Given the description of an element on the screen output the (x, y) to click on. 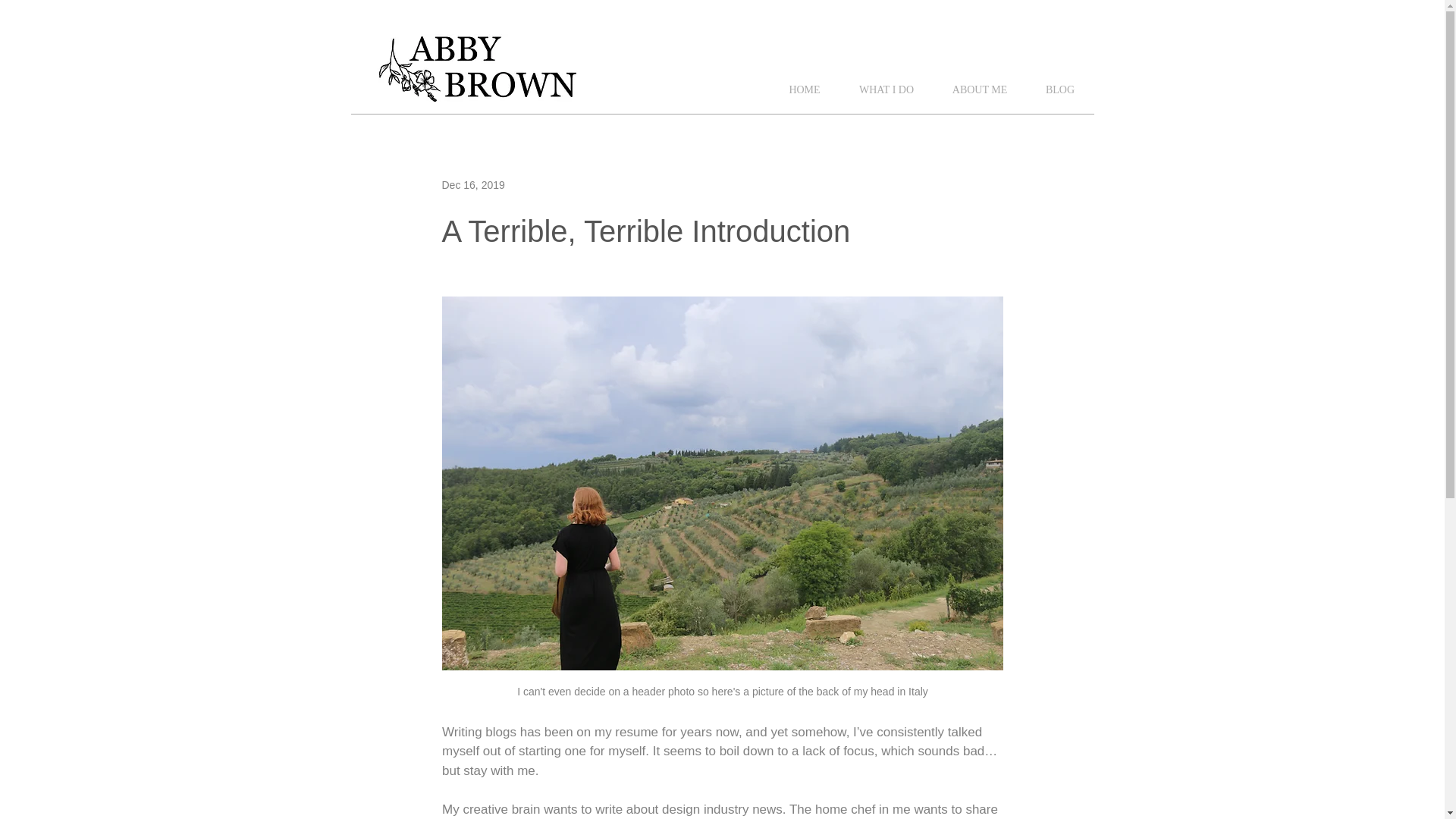
ABOUT ME (979, 89)
WHAT I DO (886, 89)
HOME (804, 89)
Dec 16, 2019 (472, 184)
BLOG (1060, 89)
